Given the description of an element on the screen output the (x, y) to click on. 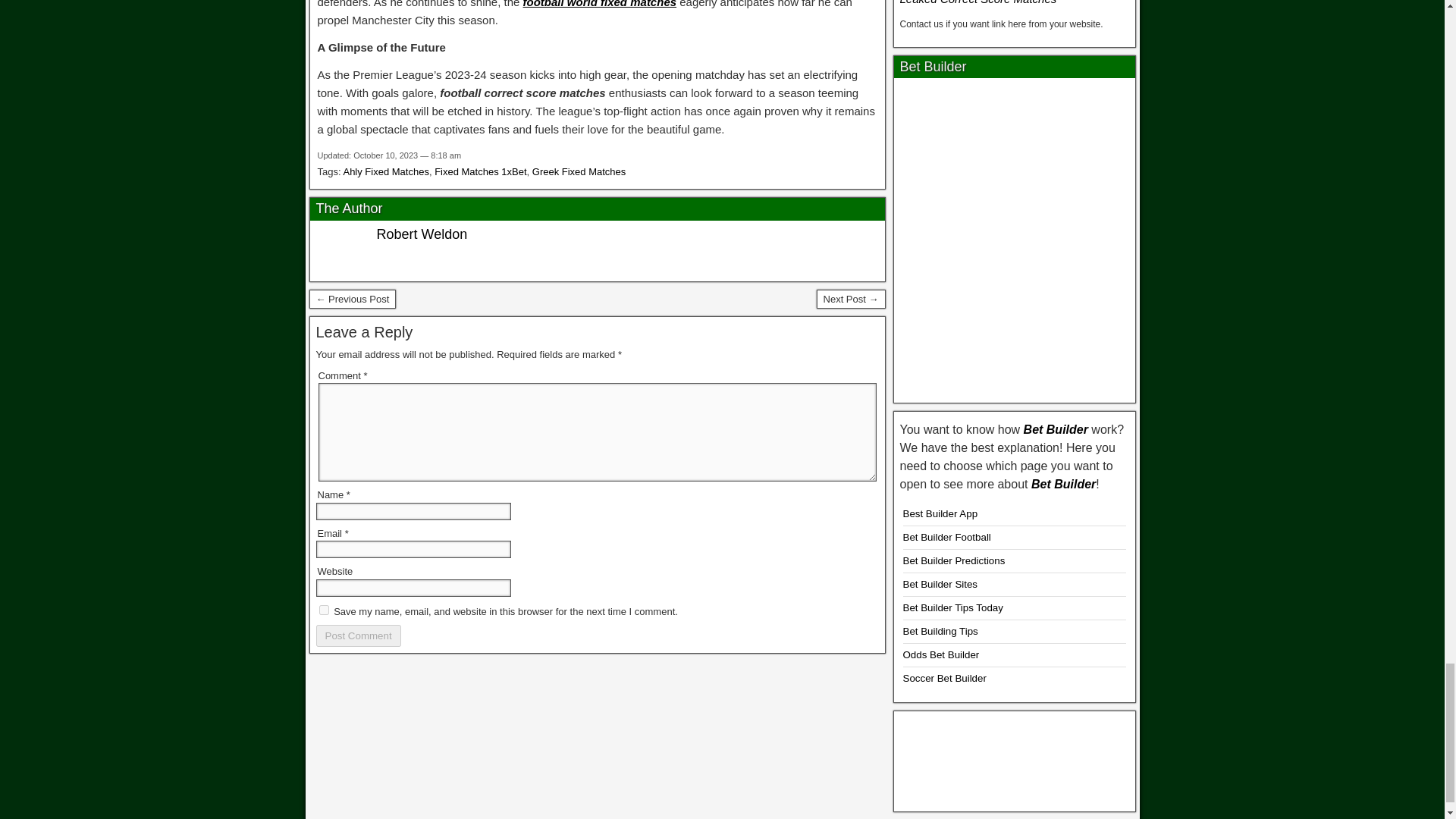
Fixed Match Free Tips (352, 299)
football world fixed matches (599, 4)
big odds fixed matches (1014, 758)
Post Comment (357, 635)
yes (323, 610)
Ahly Fixed Matches (385, 171)
Greek Fixed Matches (579, 171)
Post Comment (357, 635)
Fixed Matches 1xBet (479, 171)
Robert Weldon (421, 233)
